Given the description of an element on the screen output the (x, y) to click on. 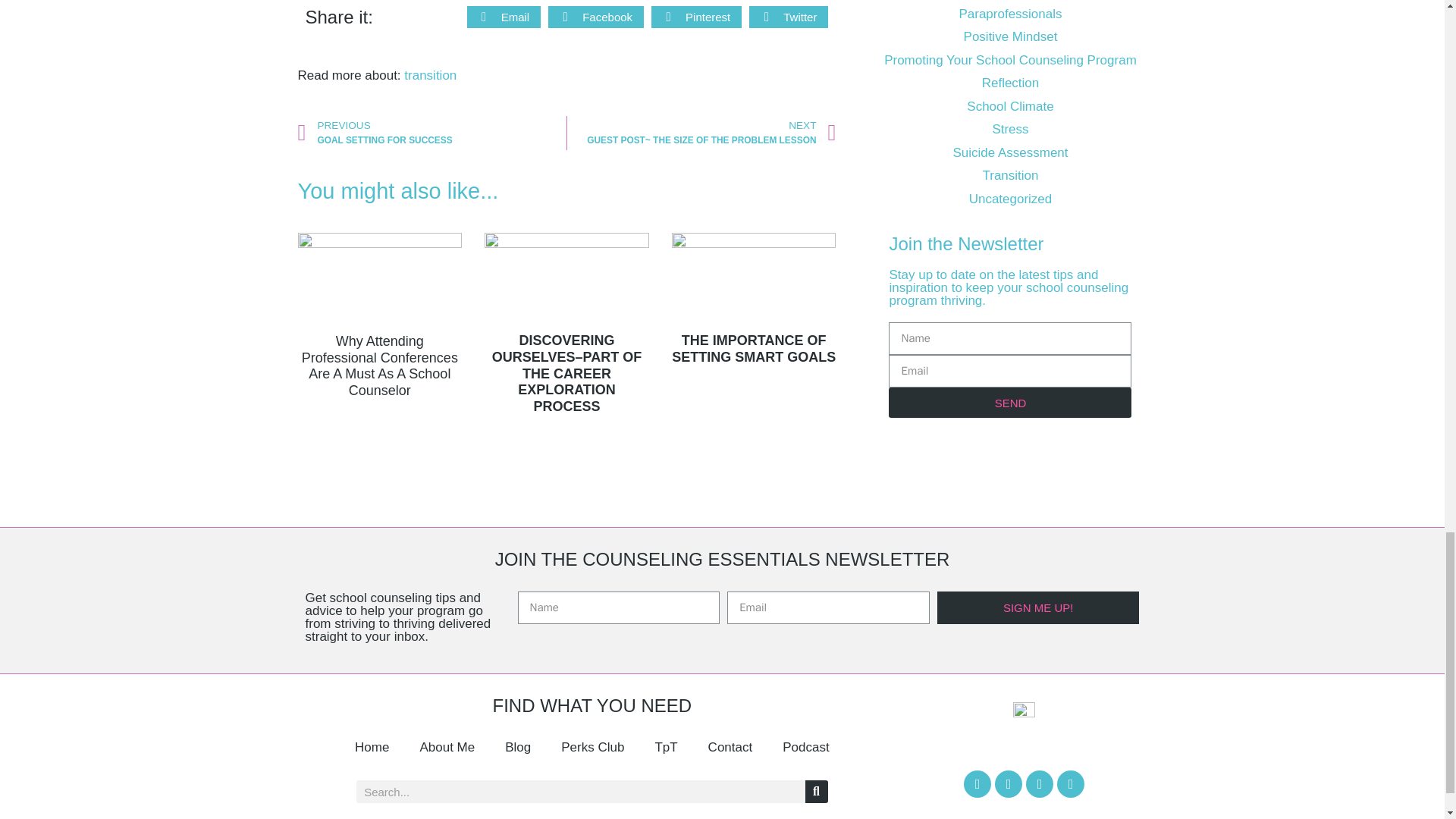
Search (816, 791)
THE IMPORTANCE OF SETTING SMART GOALS (753, 348)
transition (430, 74)
Search (580, 791)
